Given the description of an element on the screen output the (x, y) to click on. 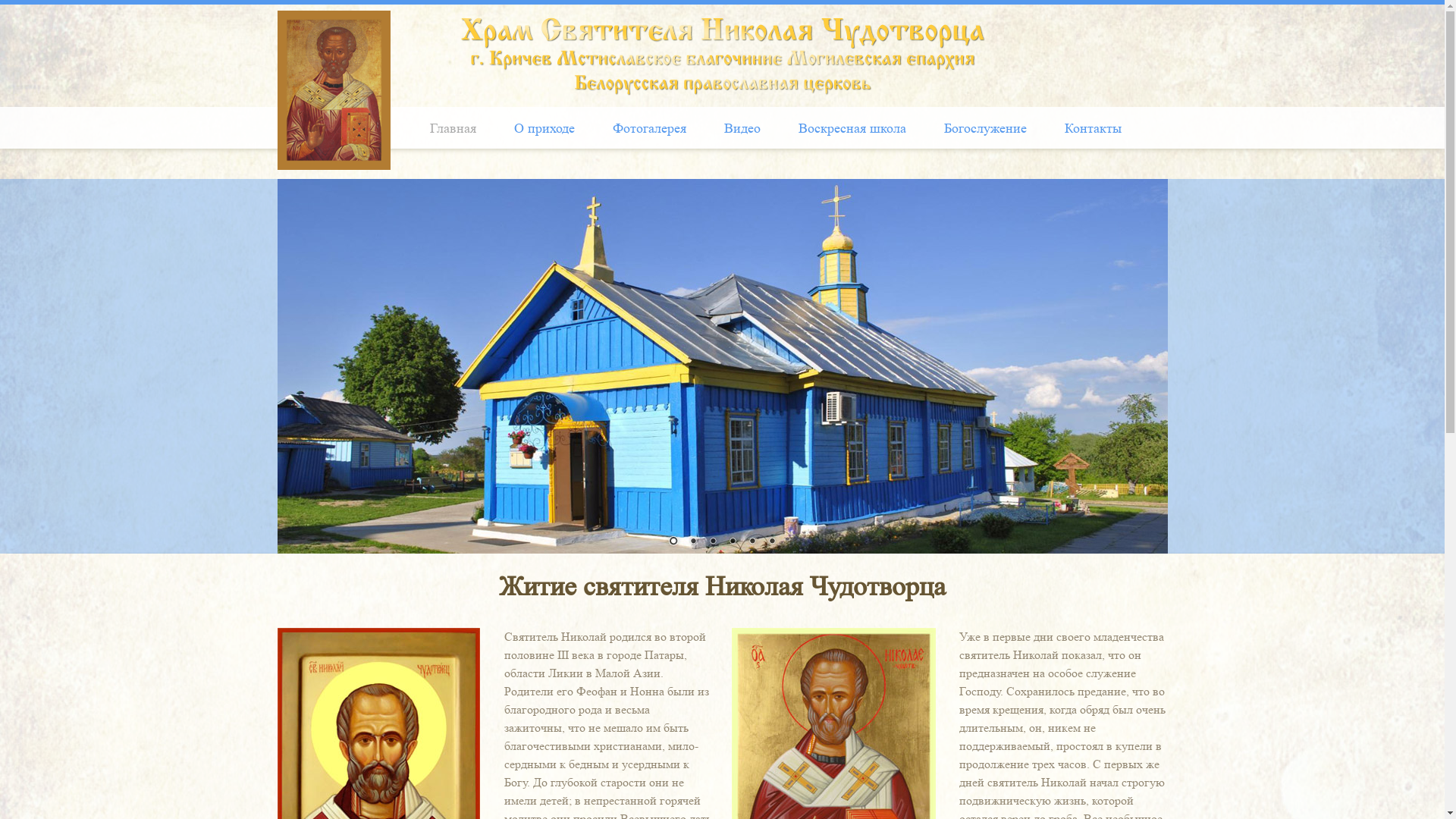
1 Element type: text (672, 541)
5 Element type: text (751, 541)
3 Element type: text (711, 541)
4 Element type: text (731, 541)
2 Element type: text (692, 541)
6 Element type: text (770, 541)
